Given the description of an element on the screen output the (x, y) to click on. 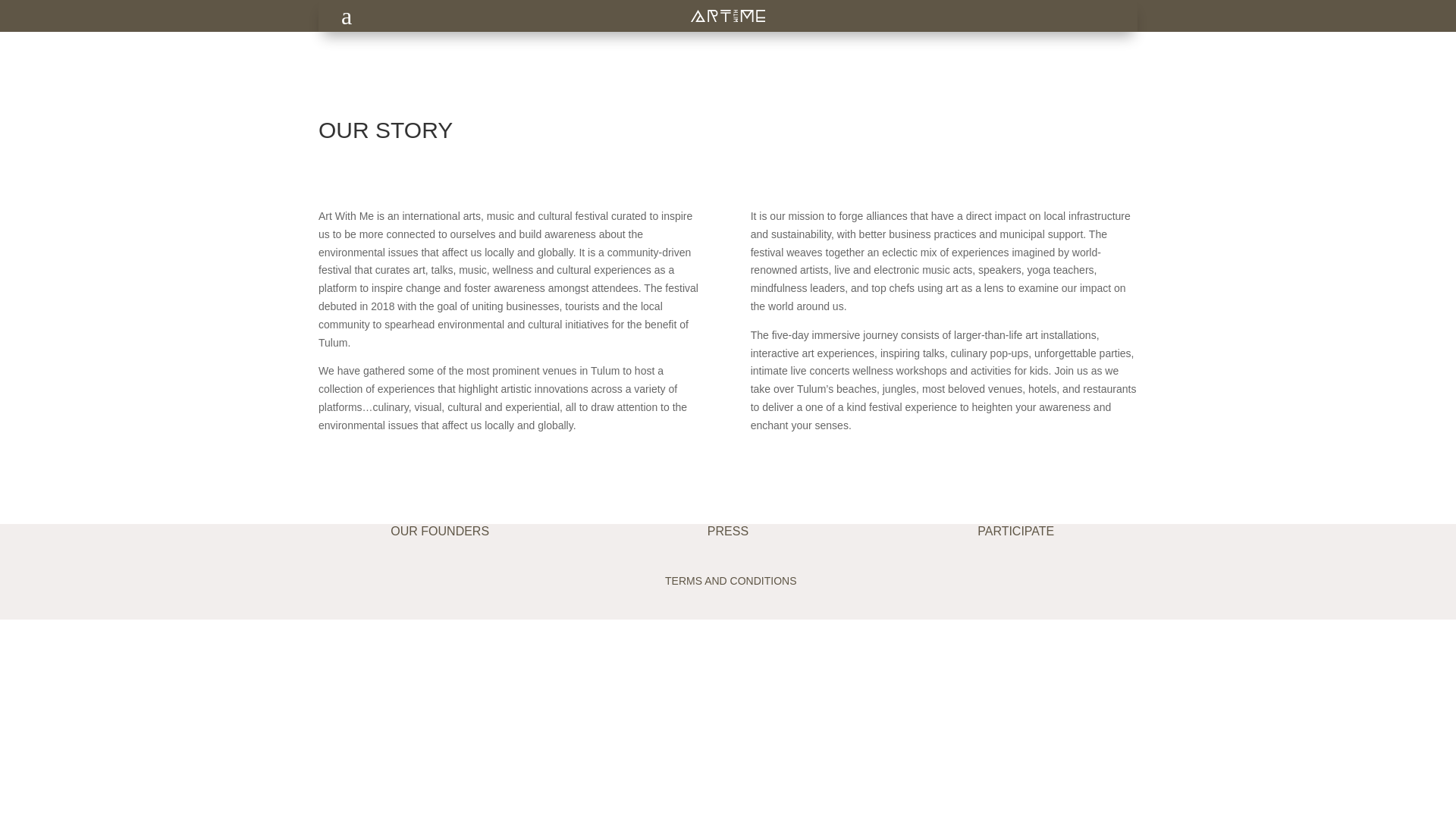
OUR FOUNDERS (439, 530)
awmlogowhite (727, 15)
PRESS (727, 530)
